Given the description of an element on the screen output the (x, y) to click on. 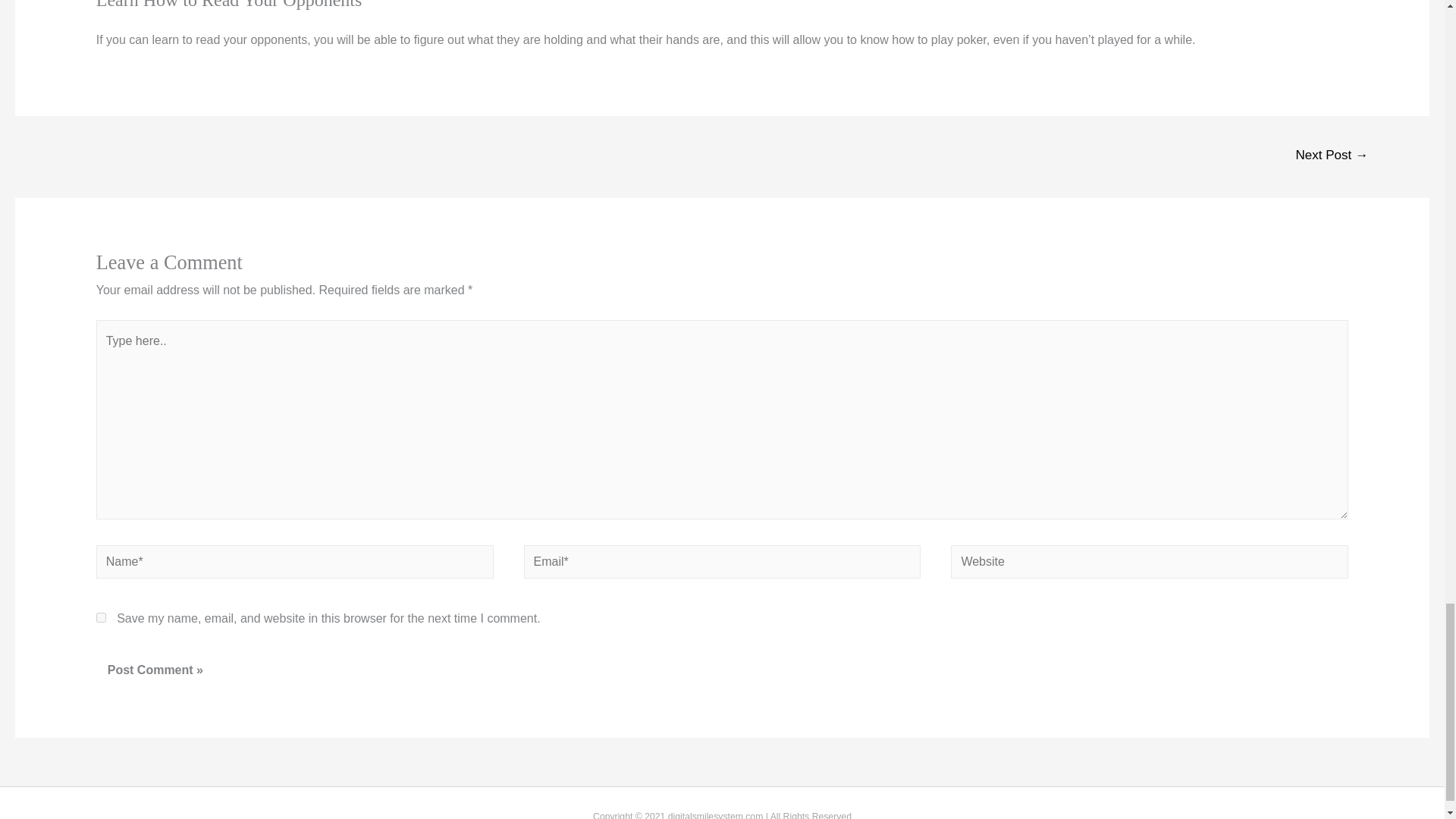
yes (101, 617)
